Given the description of an element on the screen output the (x, y) to click on. 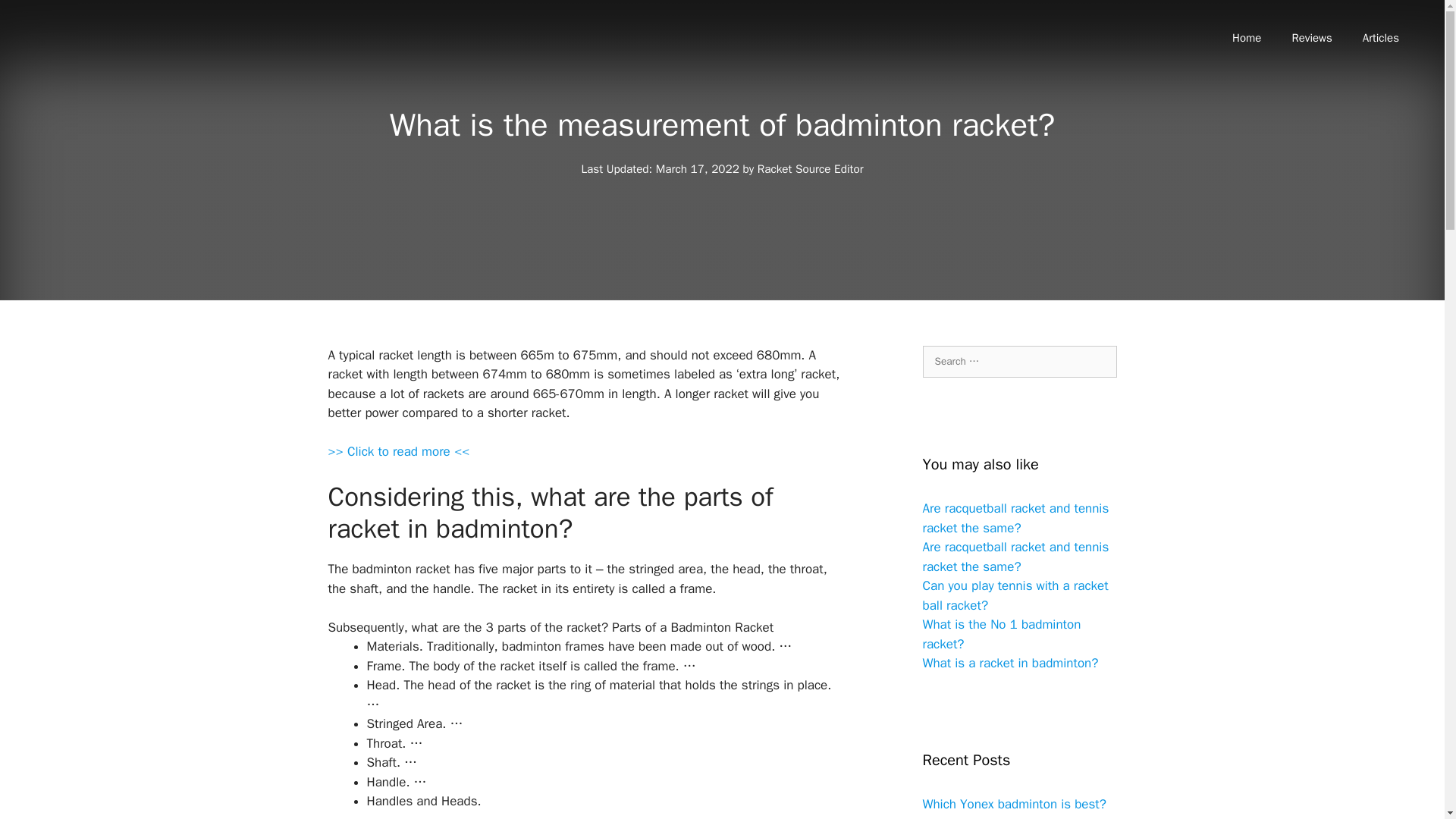
Can you play tennis with a racket ball racket? (1014, 595)
Racket Source (98, 71)
Racket Source (98, 70)
What is the measurement of badminton racket? (397, 451)
What is the No 1 badminton racket? (1000, 633)
Articles (1380, 37)
Home (1246, 37)
Are racquetball racket and tennis racket the same? (1014, 518)
Which Yonex badminton is best? (1013, 804)
What is a racket in badminton? (1009, 662)
Search (35, 18)
Search for: (1018, 361)
Reviews (1311, 37)
Are racquetball racket and tennis racket the same? (1014, 556)
